Given the description of an element on the screen output the (x, y) to click on. 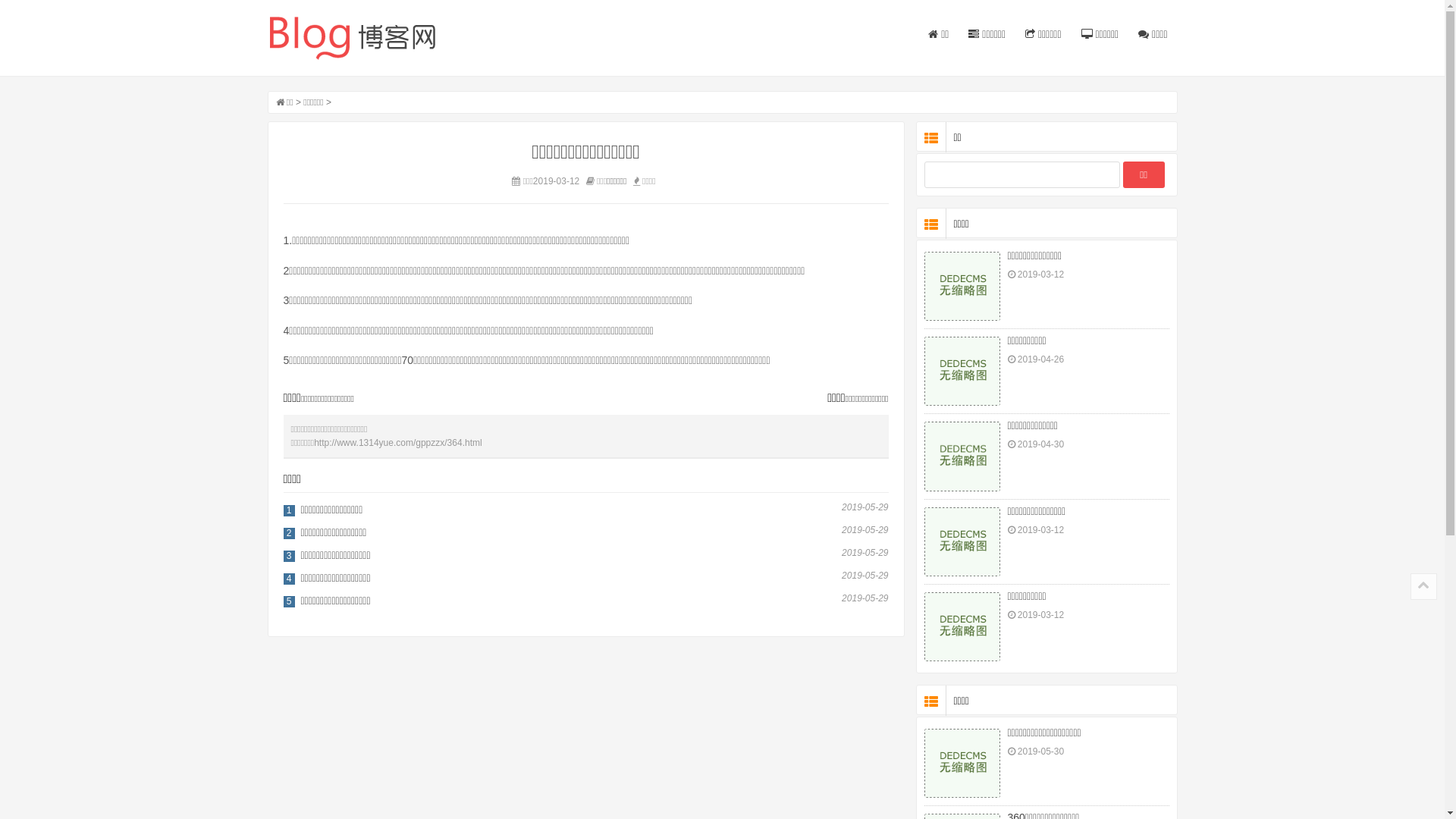
http://www.1314yue.com/gppzzx/364.html Element type: text (397, 441)
